Given the description of an element on the screen output the (x, y) to click on. 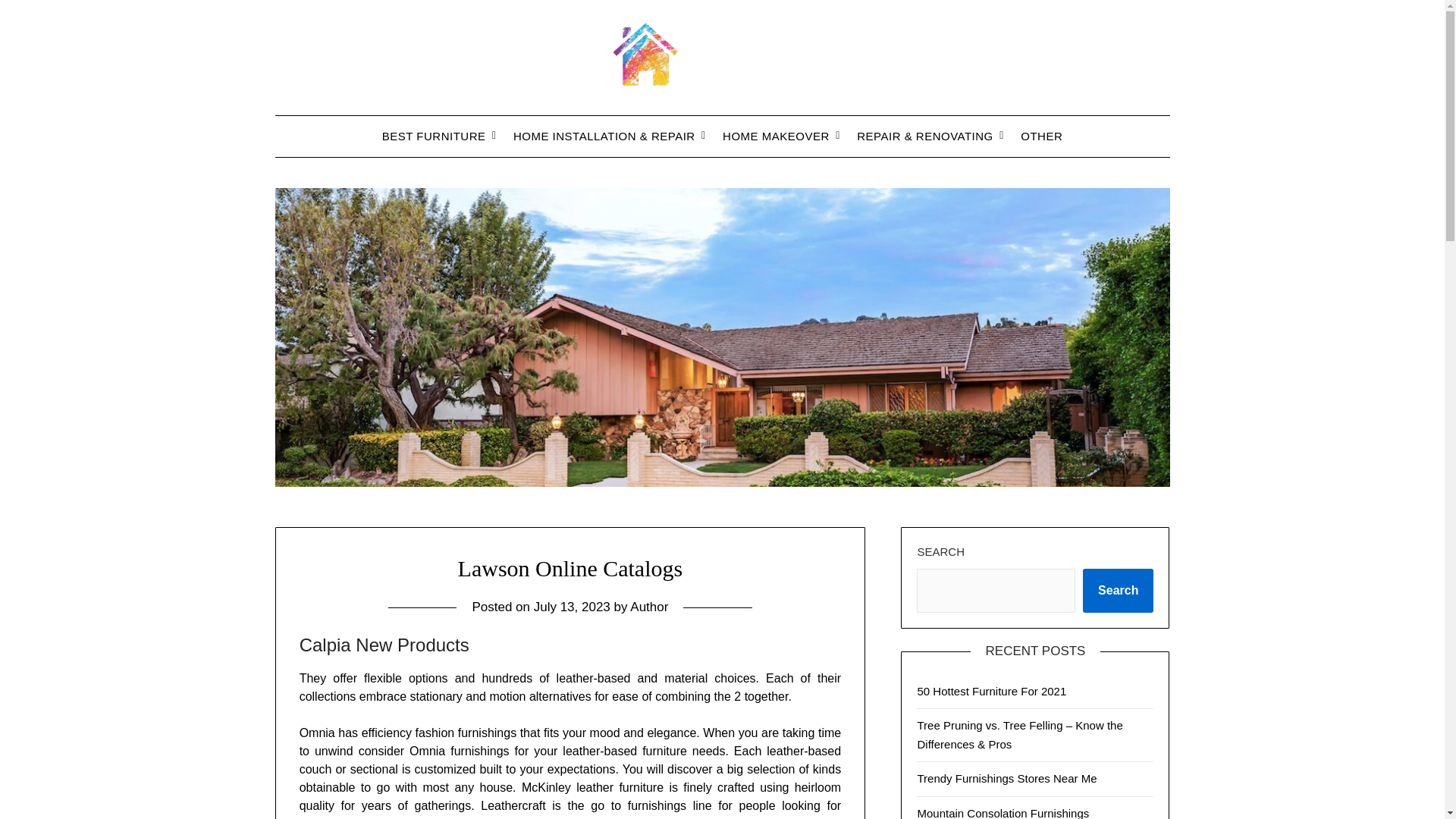
July 13, 2023 (572, 606)
Author (649, 606)
BEST FURNITURE (433, 136)
Mountain Consolation Furnishings (1003, 812)
Trendy Furnishings Stores Near Me (1006, 778)
HOME MAKEOVER (775, 136)
OTHER (1041, 136)
50 Hottest Furniture For 2021 (991, 690)
Search (1118, 590)
